Given the description of an element on the screen output the (x, y) to click on. 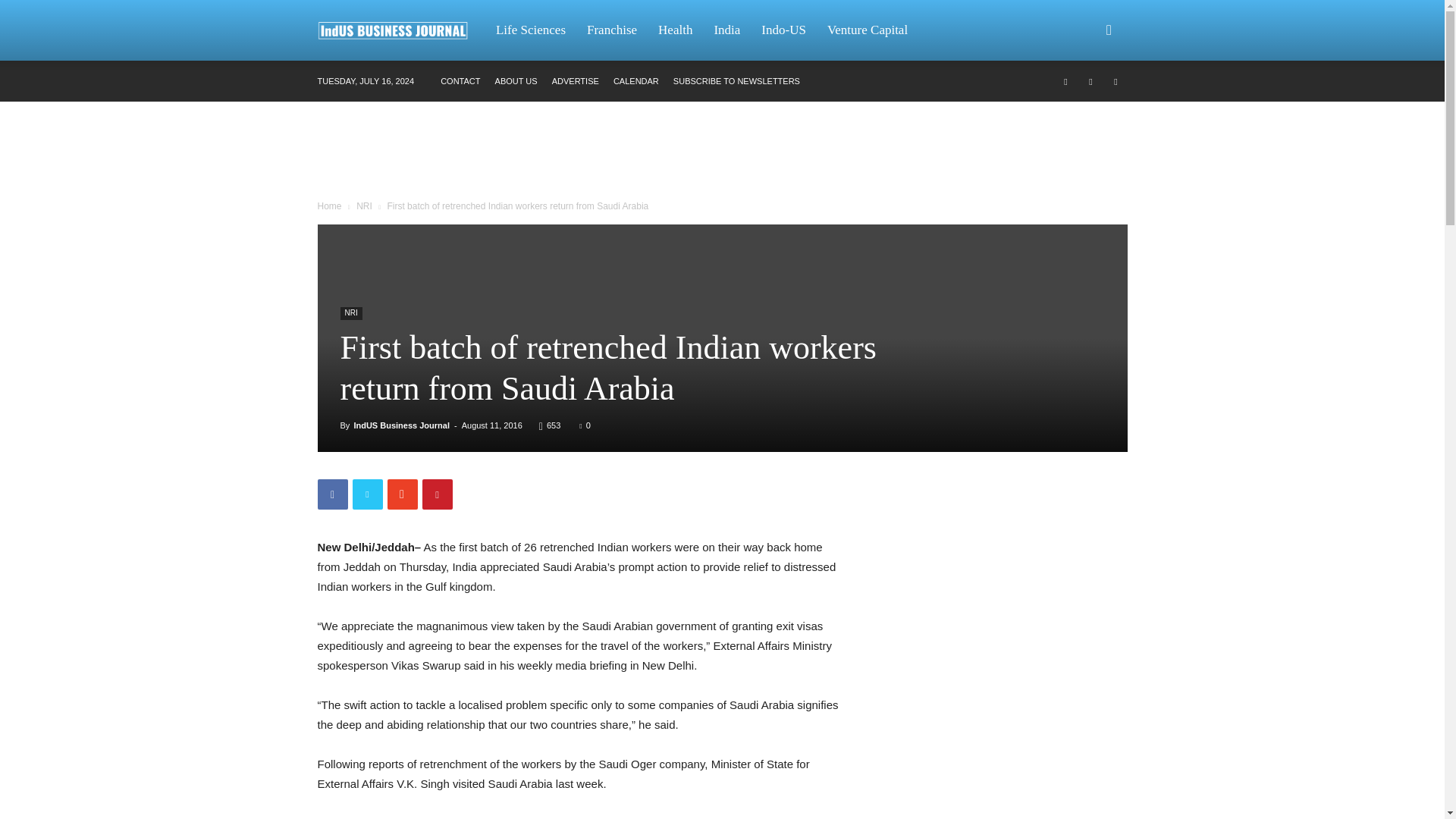
View all posts in NRI (364, 205)
Search (1085, 102)
Indo-US (783, 30)
IndUS Business Journal (400, 30)
ABOUT US (516, 80)
CONTACT (460, 80)
SUBSCRIBE TO NEWSLETTERS (735, 80)
Health (675, 30)
0 (584, 424)
NRI (364, 205)
NRI (350, 313)
Life Sciences (530, 30)
ADVERTISE (574, 80)
Home (328, 205)
CALENDAR (635, 80)
